Given the description of an element on the screen output the (x, y) to click on. 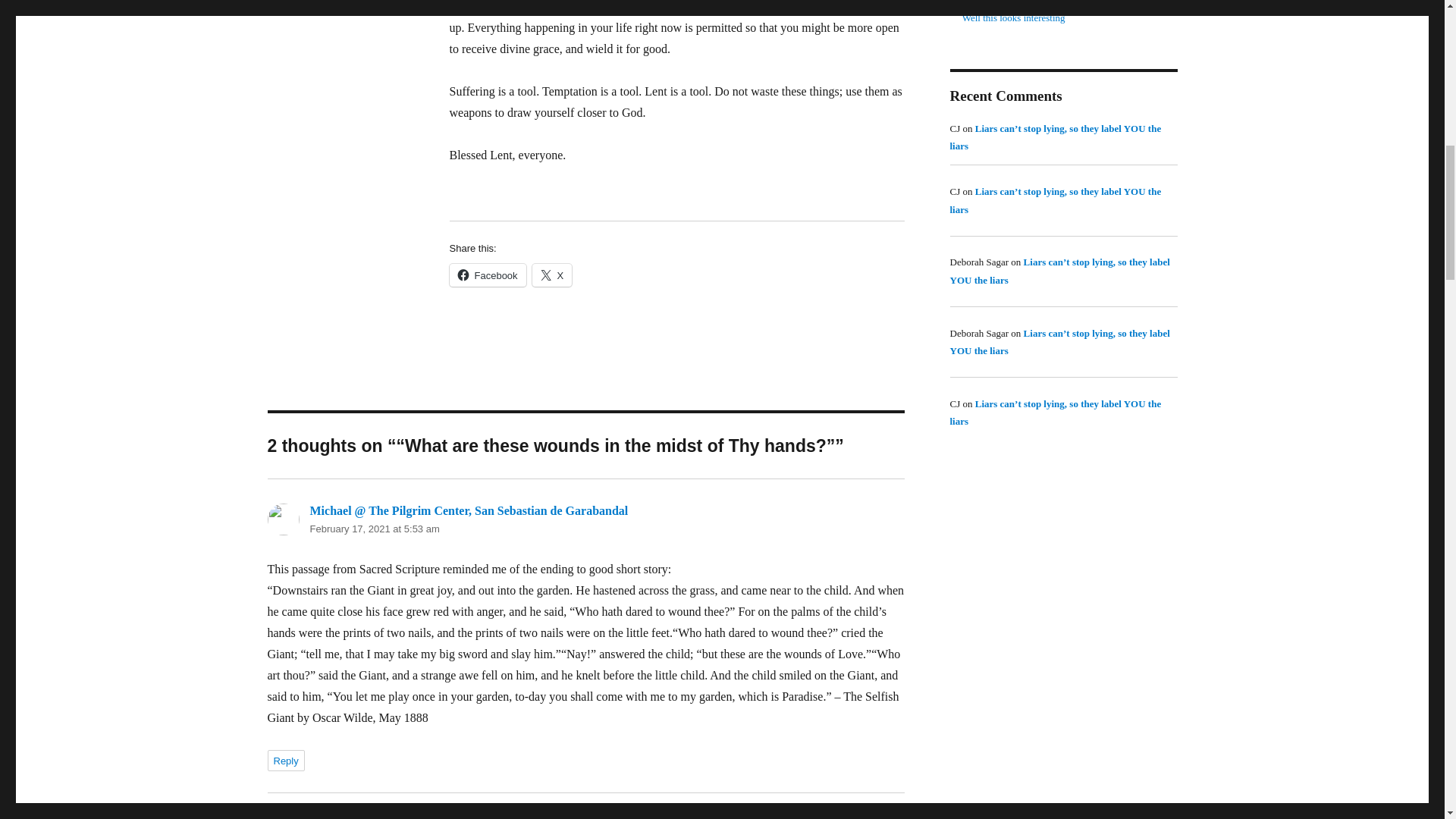
Click to share on Facebook (486, 274)
X (552, 274)
Reply (285, 760)
February 17, 2021 at 5:53 am (373, 528)
Facebook (486, 274)
Click to share on X (552, 274)
